Given the description of an element on the screen output the (x, y) to click on. 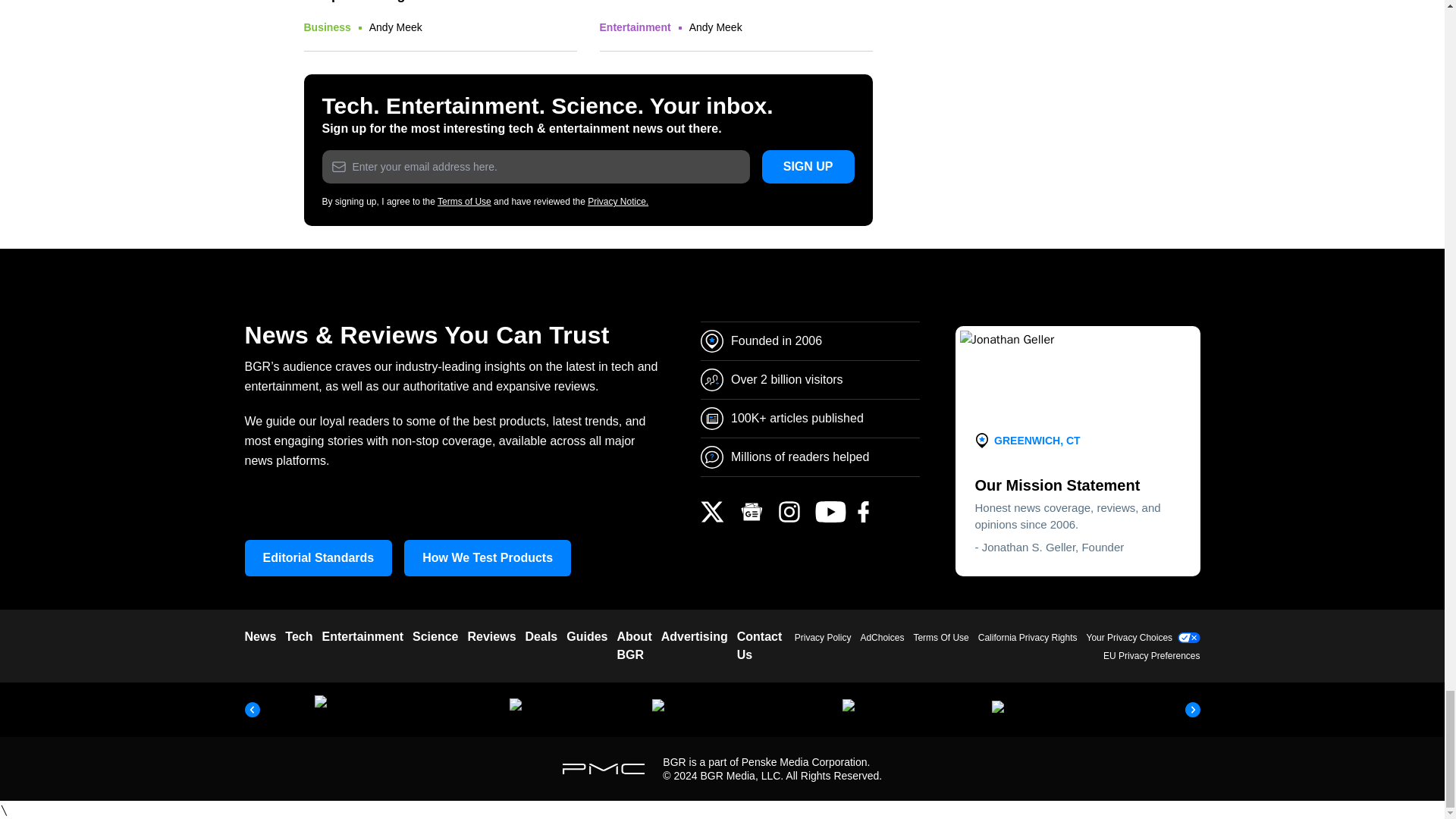
Posts by Andy Meek (715, 27)
Posts by Andy Meek (395, 27)
